Given the description of an element on the screen output the (x, y) to click on. 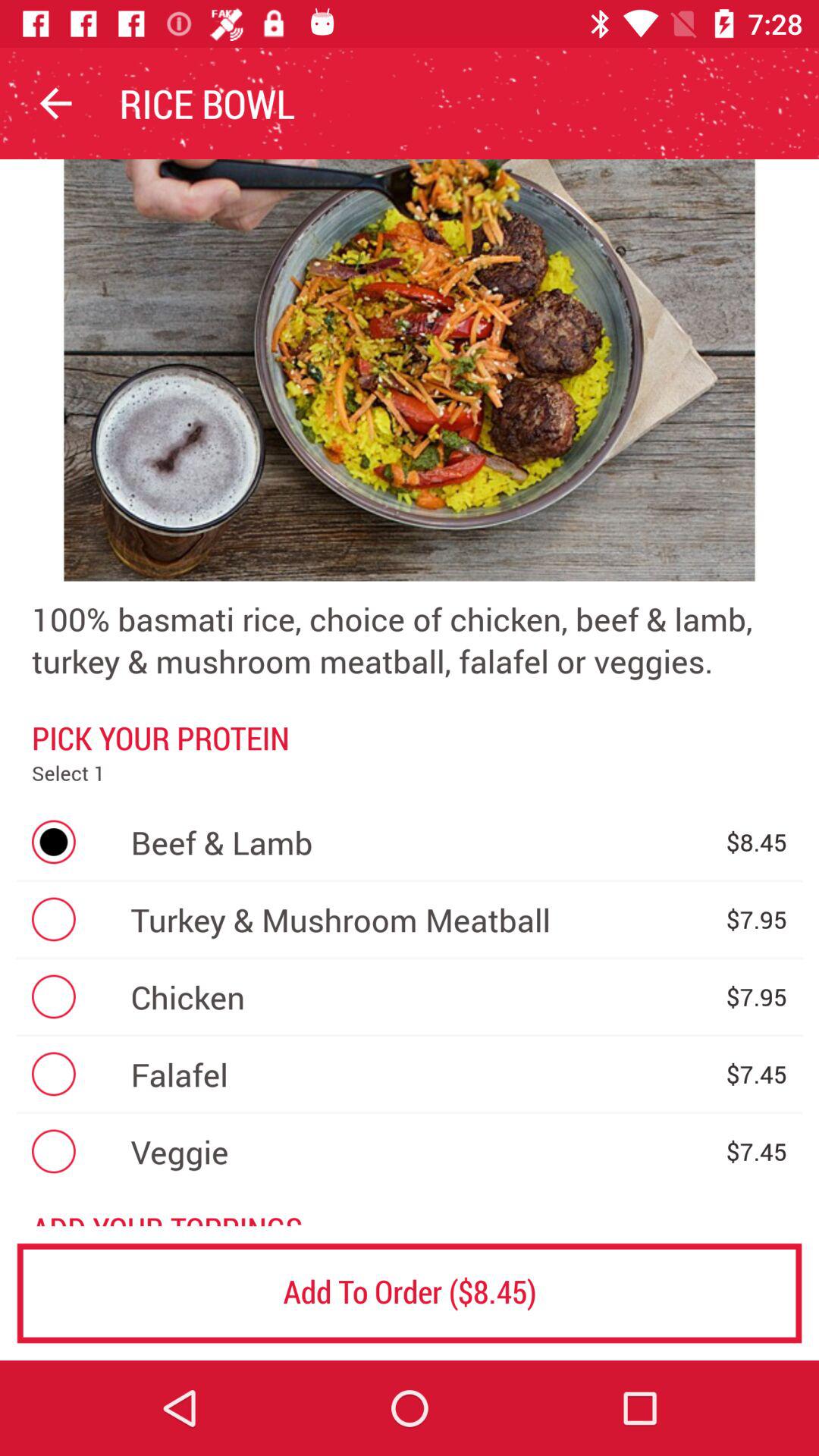
press icon to the left of $7.45 item (420, 1151)
